Given the description of an element on the screen output the (x, y) to click on. 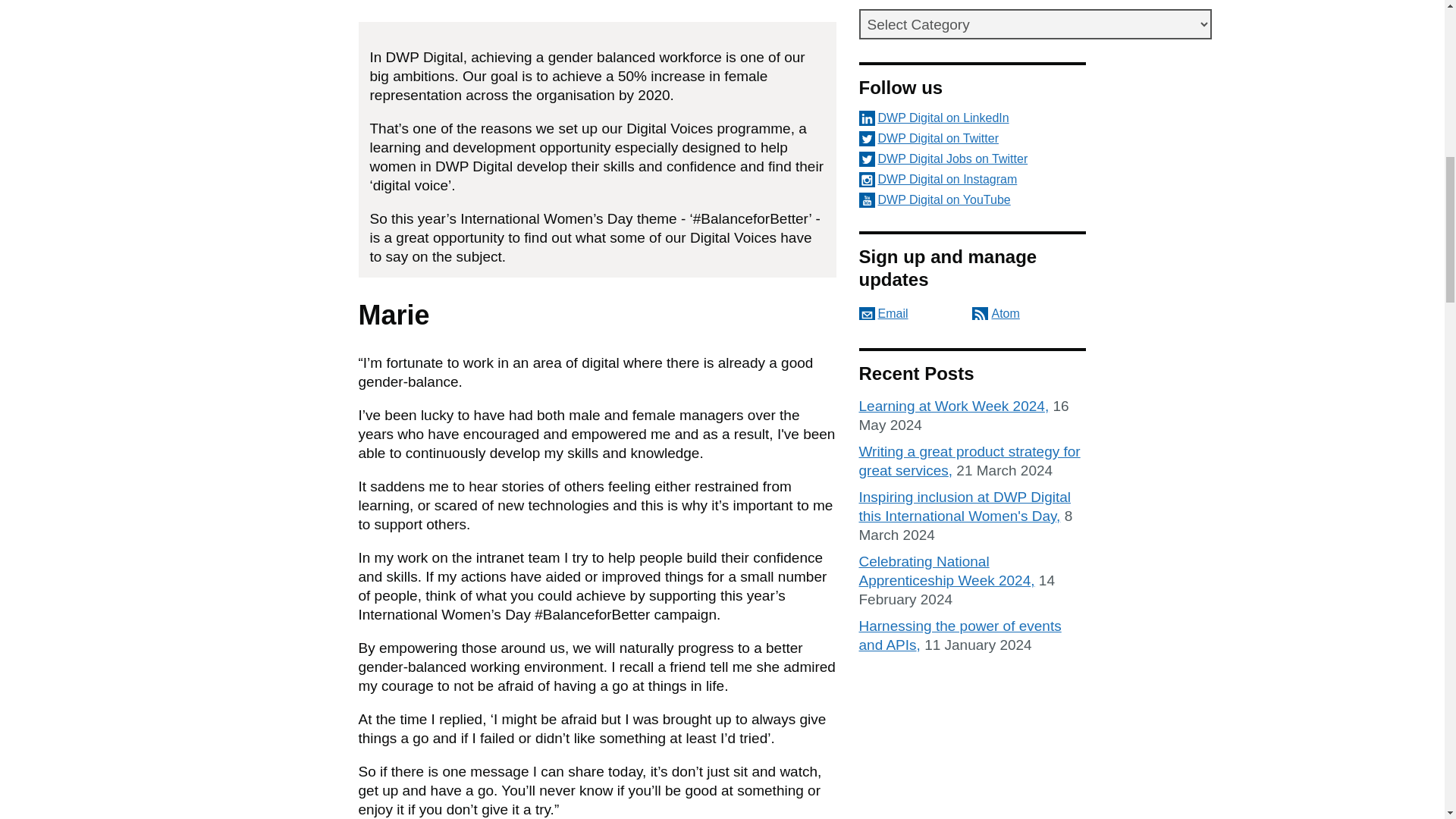
DWP Digital on YouTube (972, 200)
DWP Digital on Twitter (972, 138)
DWP Digital on Instagram (972, 179)
Celebrating National Apprenticeship Week 2024 (946, 570)
Writing a great product strategy for great services (969, 460)
DWP Digital Jobs on Twitter (972, 159)
Atom (995, 313)
DWP Digital on LinkedIn (972, 118)
Harnessing the power of events and APIs (960, 635)
Email (883, 313)
Learning at Work Week 2024 (953, 406)
